Given the description of an element on the screen output the (x, y) to click on. 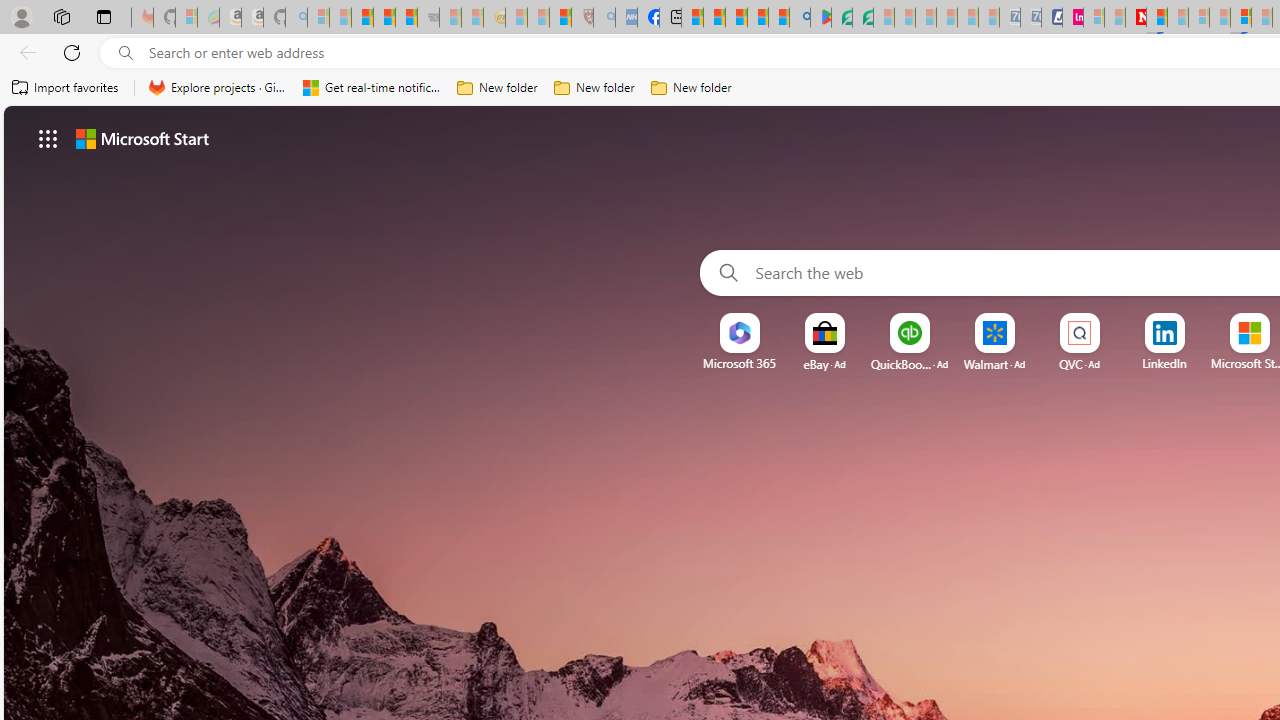
App launcher (47, 138)
New Report Confirms 2023 Was Record Hot | Watch (406, 17)
Terms of Use Agreement (842, 17)
